Given the description of an element on the screen output the (x, y) to click on. 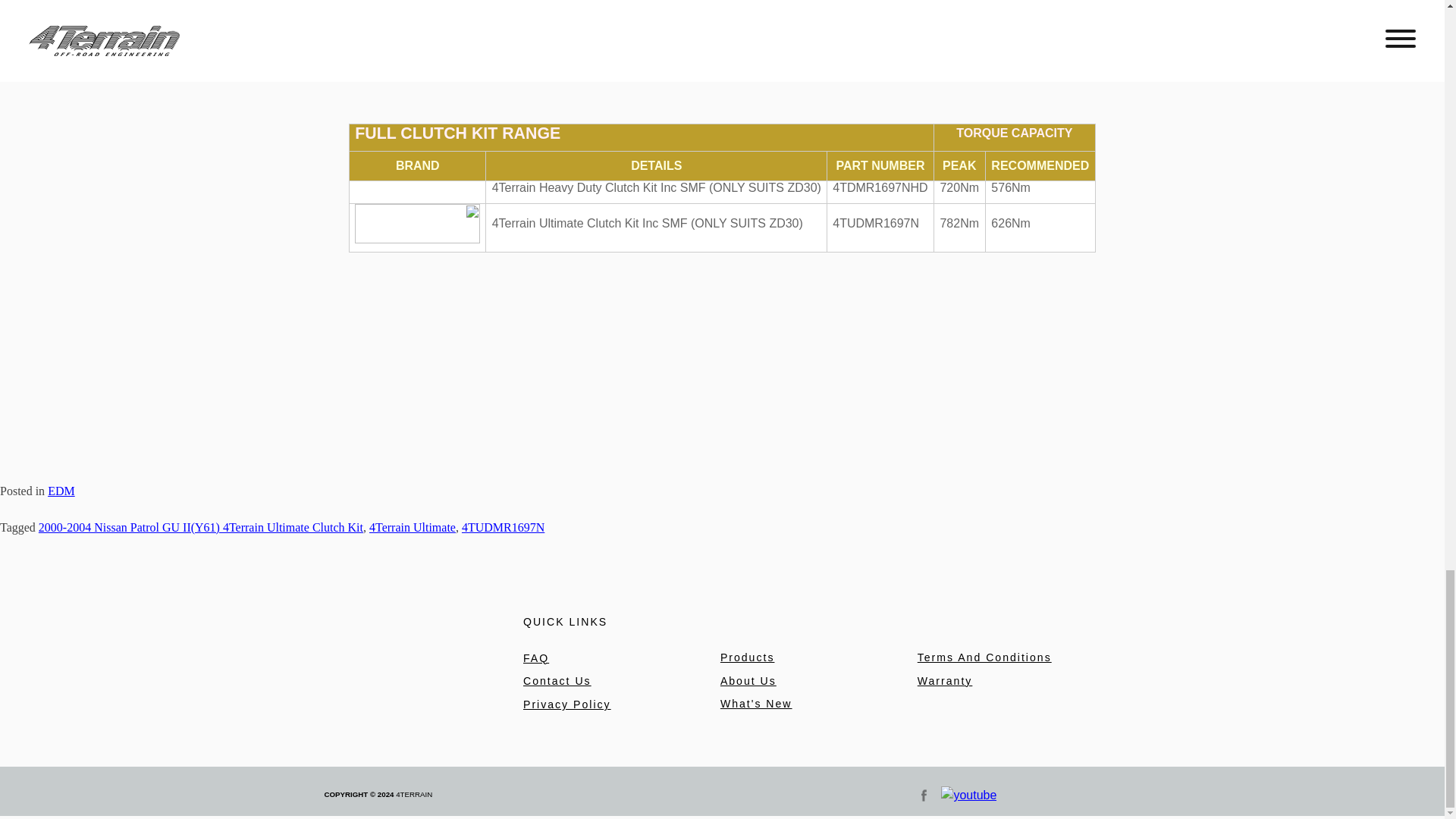
Terms And Conditions (984, 657)
FAQ (535, 657)
4Terrain Ultimate (412, 526)
What'S New (756, 703)
About Us (748, 680)
Contact Us (556, 680)
Warranty (944, 680)
4TUDMR1697N (502, 526)
Privacy Policy (566, 704)
Products (747, 657)
EDM (61, 490)
